Given the description of an element on the screen output the (x, y) to click on. 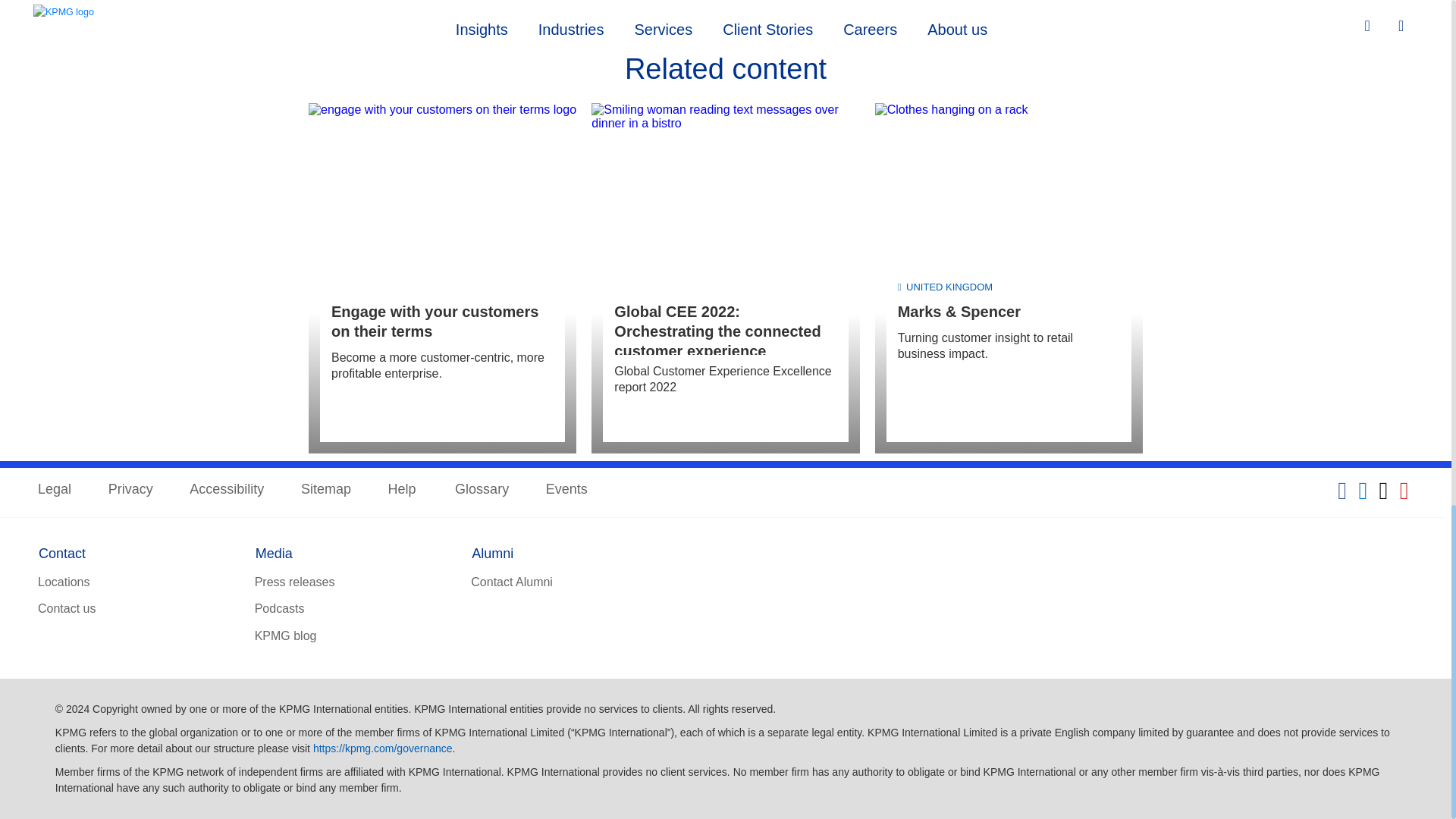
Privacy (129, 489)
Sitemap (325, 489)
Legal (54, 489)
full report here (408, 13)
Accessibility (226, 489)
Help (403, 489)
